Given the description of an element on the screen output the (x, y) to click on. 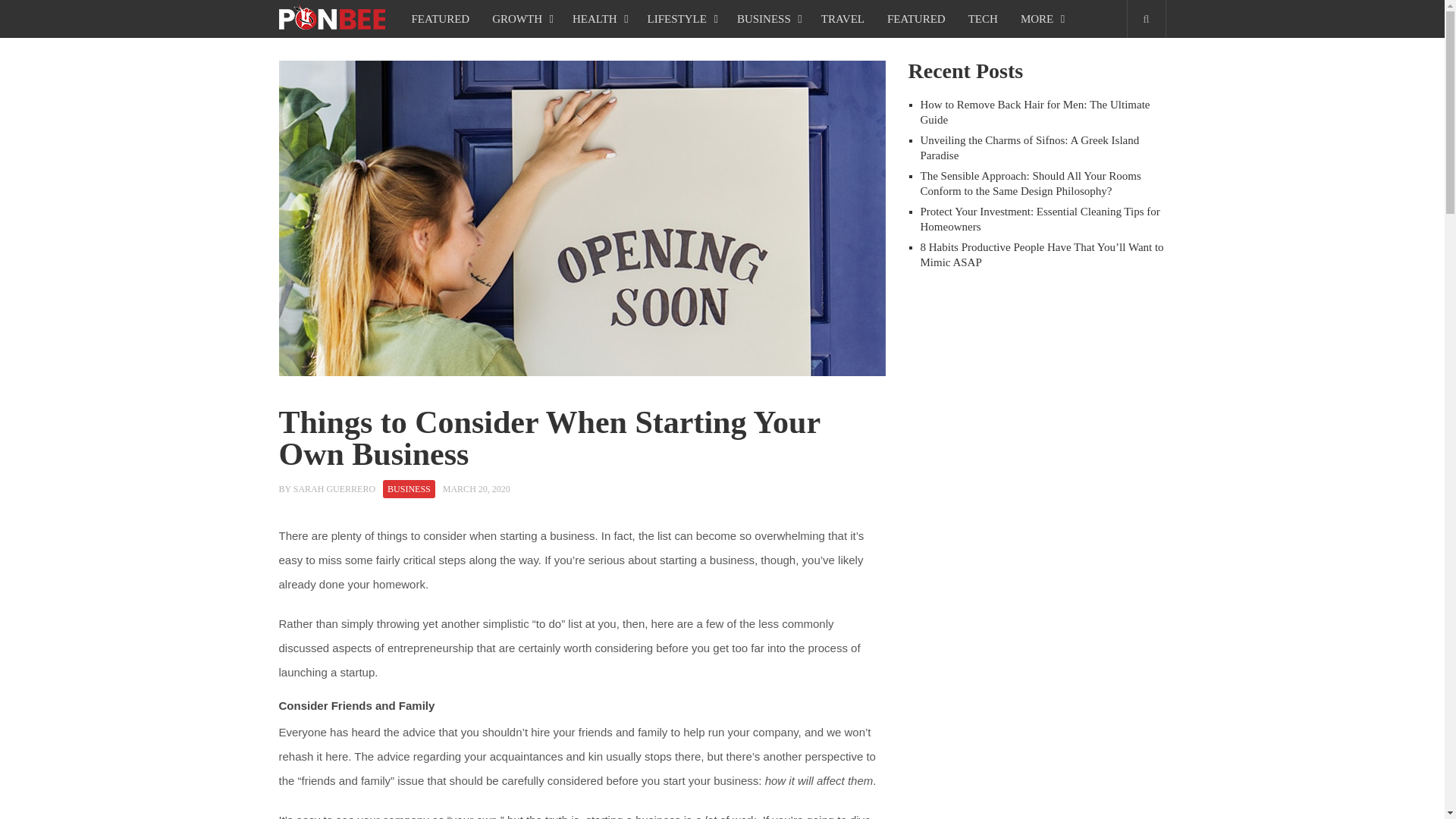
TRAVEL (842, 18)
Growth (520, 18)
Lifestyle (680, 18)
Health (598, 18)
GROWTH (520, 18)
TECH (982, 18)
MORE (1040, 18)
HEALTH (598, 18)
LIFESTYLE (680, 18)
FEATURED (916, 18)
